Given the description of an element on the screen output the (x, y) to click on. 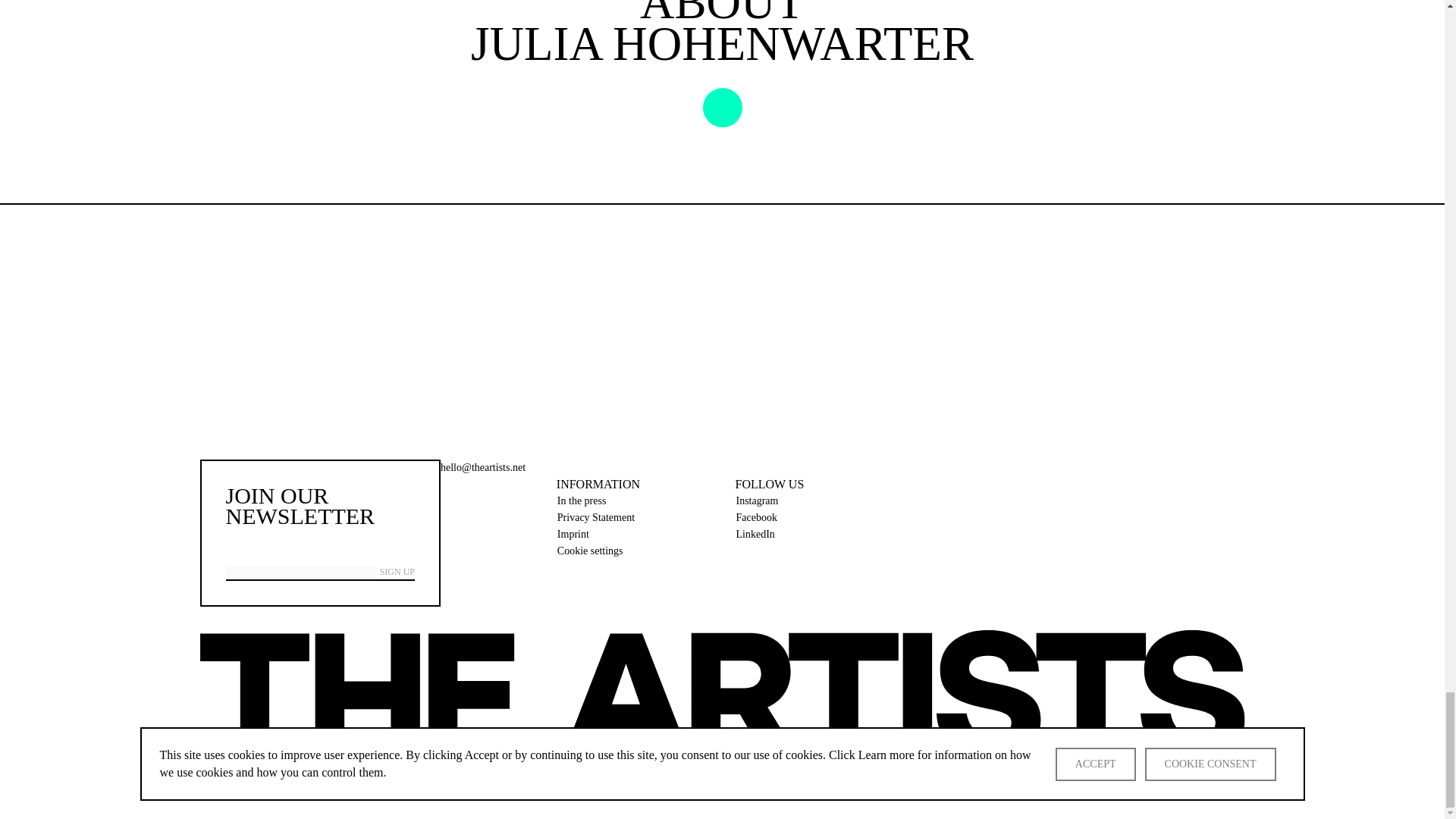
Sign up (397, 571)
